Given the description of an element on the screen output the (x, y) to click on. 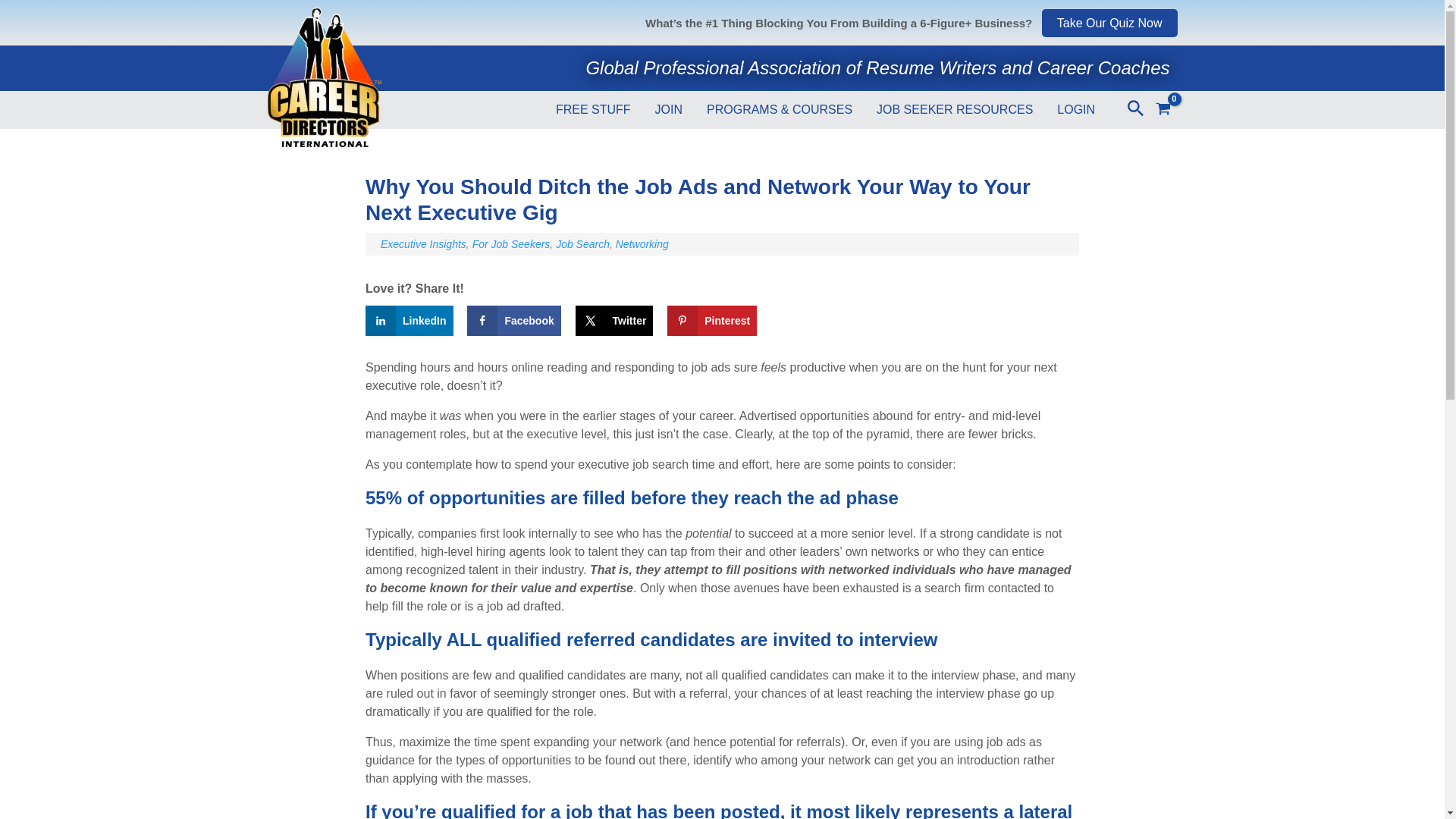
Take Our Quiz Now (1109, 22)
Save to Pinterest (711, 320)
Share on Facebook (513, 320)
JOB SEEKER RESOURCES (954, 106)
JOIN (668, 106)
For Job Seekers (510, 244)
Twitter (614, 320)
Share on LinkedIn (408, 320)
Executive Insights (422, 244)
Pinterest (711, 320)
